Given the description of an element on the screen output the (x, y) to click on. 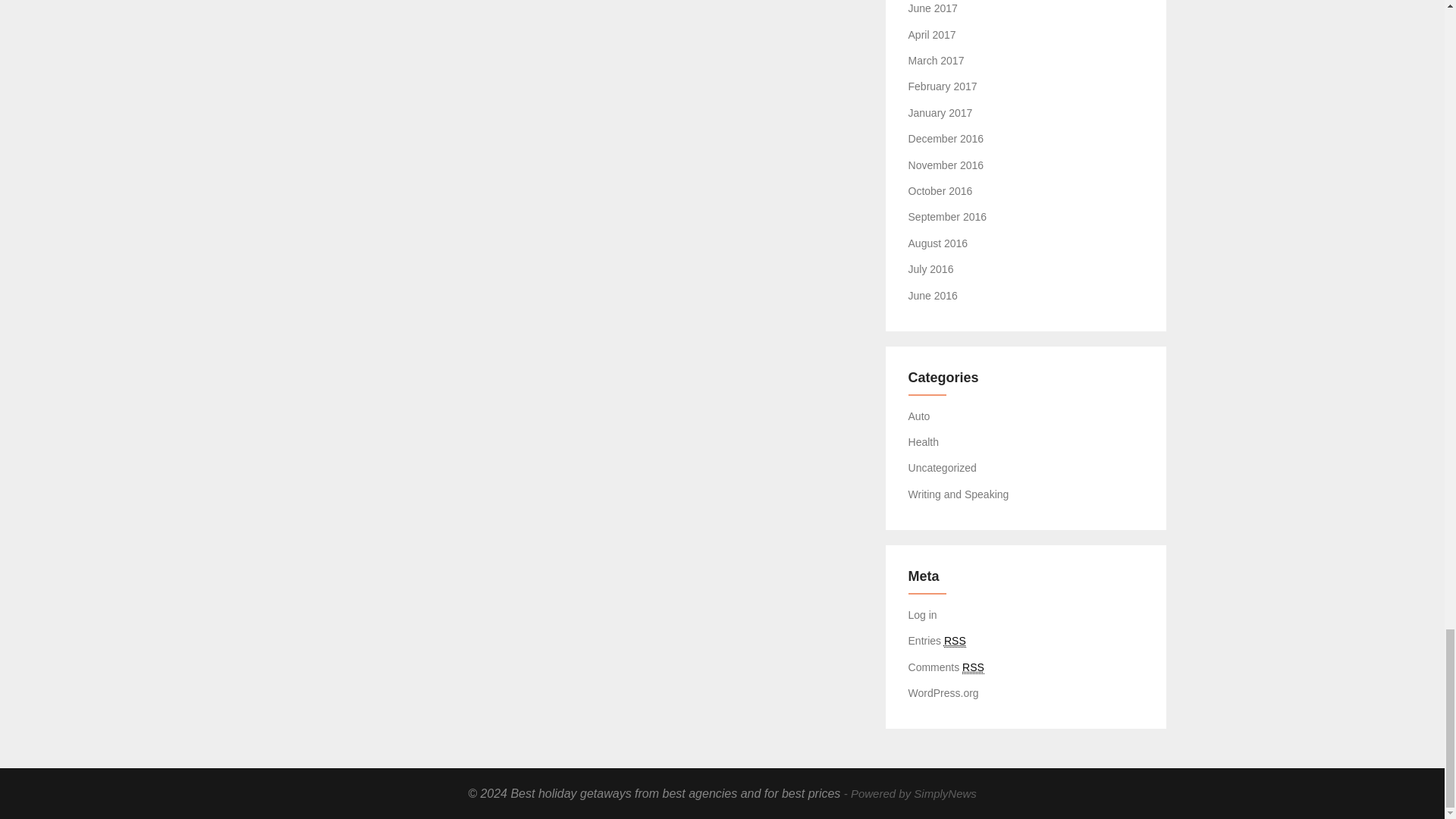
Really Simple Syndication (973, 667)
Health Category (923, 441)
Really Simple Syndication (954, 640)
Auto Category (919, 416)
Writing and Speaking Category (958, 494)
